Given the description of an element on the screen output the (x, y) to click on. 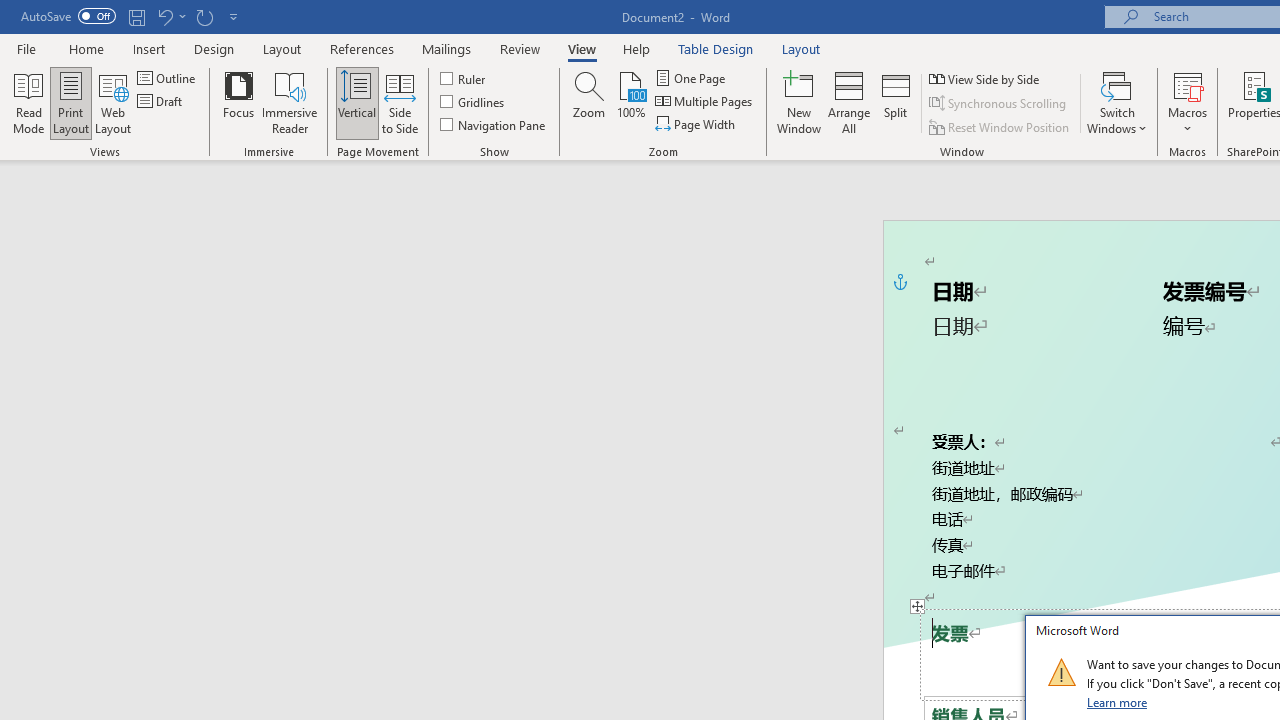
Navigation Pane (493, 124)
Split (895, 102)
Page Width (696, 124)
100% (630, 102)
Zoom... (589, 102)
View Macros (1187, 84)
Switch Windows (1117, 102)
Learn more (1118, 702)
